Given the description of an element on the screen output the (x, y) to click on. 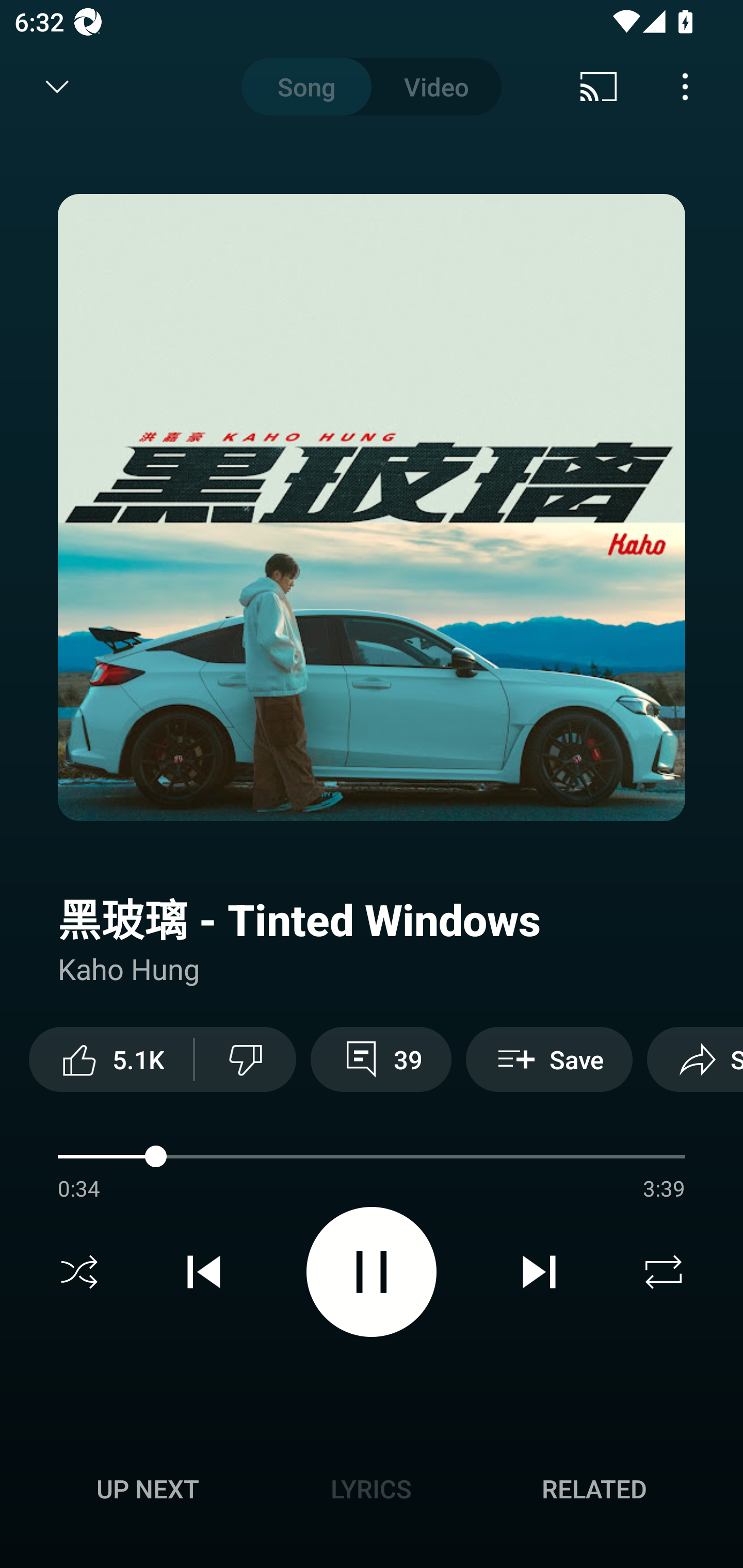
Minimize (57, 86)
Cast. Disconnected (598, 86)
Menu (684, 86)
5.1K like this video along with 5,122 other people (110, 1059)
Dislike (245, 1059)
39 View 39 comments (380, 1059)
Save Save to playlist (548, 1059)
Share (695, 1059)
Pause video (371, 1272)
Shuffle off (79, 1272)
Previous track (203, 1272)
Next track (538, 1272)
Repeat off (663, 1272)
Up next UP NEXT Lyrics LYRICS Related RELATED (371, 1491)
Lyrics LYRICS (370, 1488)
Related RELATED (594, 1488)
